Given the description of an element on the screen output the (x, y) to click on. 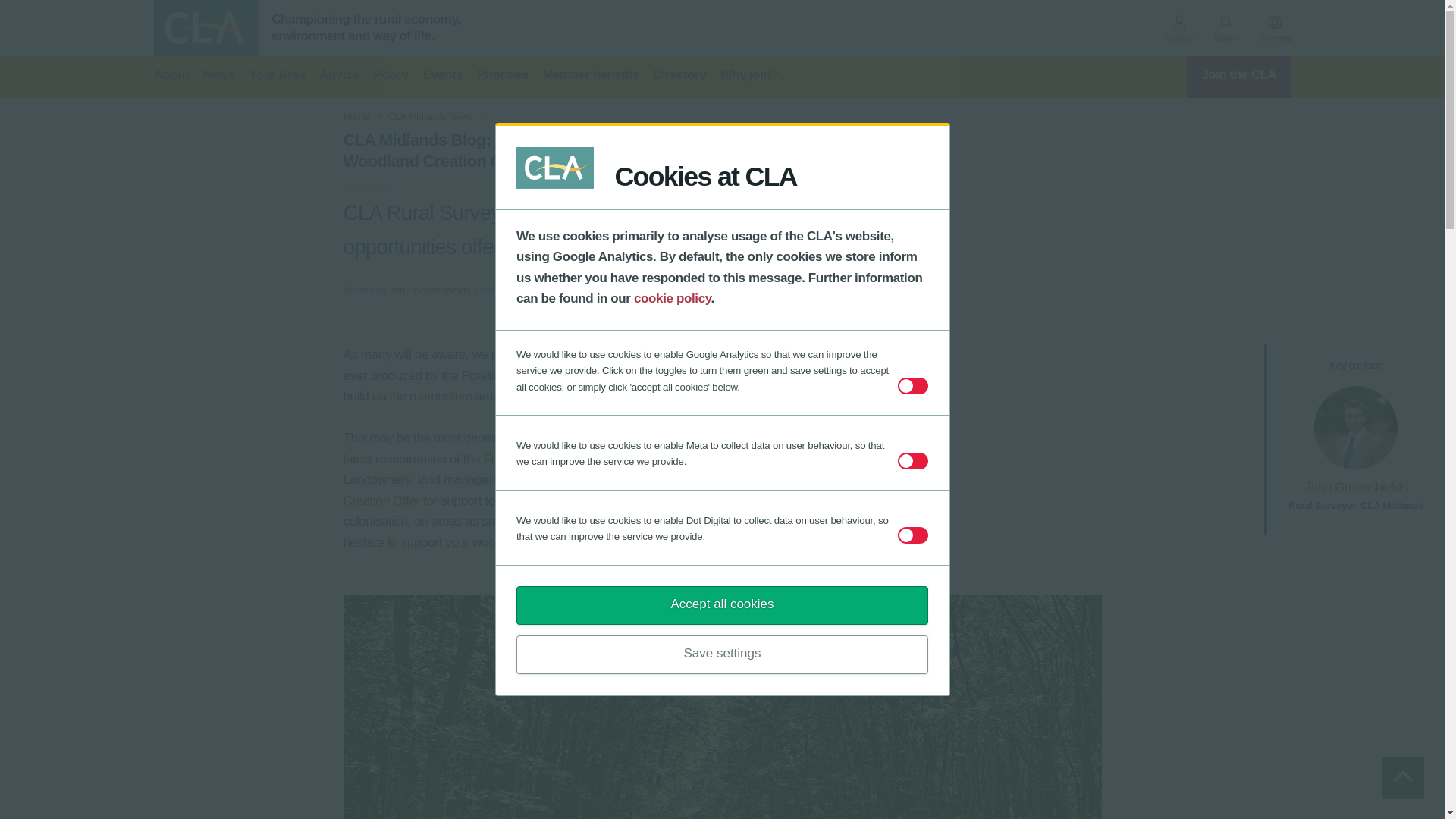
CLA Midlands News (429, 116)
John Greenshields (1355, 486)
Events (442, 76)
Save settings (722, 654)
Cymraeg (1275, 29)
Join the CLA (1238, 76)
Account (1178, 29)
cookie policy (672, 298)
Your Area (276, 76)
Why join? (749, 76)
England Woodland Creation Offer (568, 489)
Advice (338, 76)
Directory (679, 76)
Home (355, 116)
Priorities (502, 76)
